Given the description of an element on the screen output the (x, y) to click on. 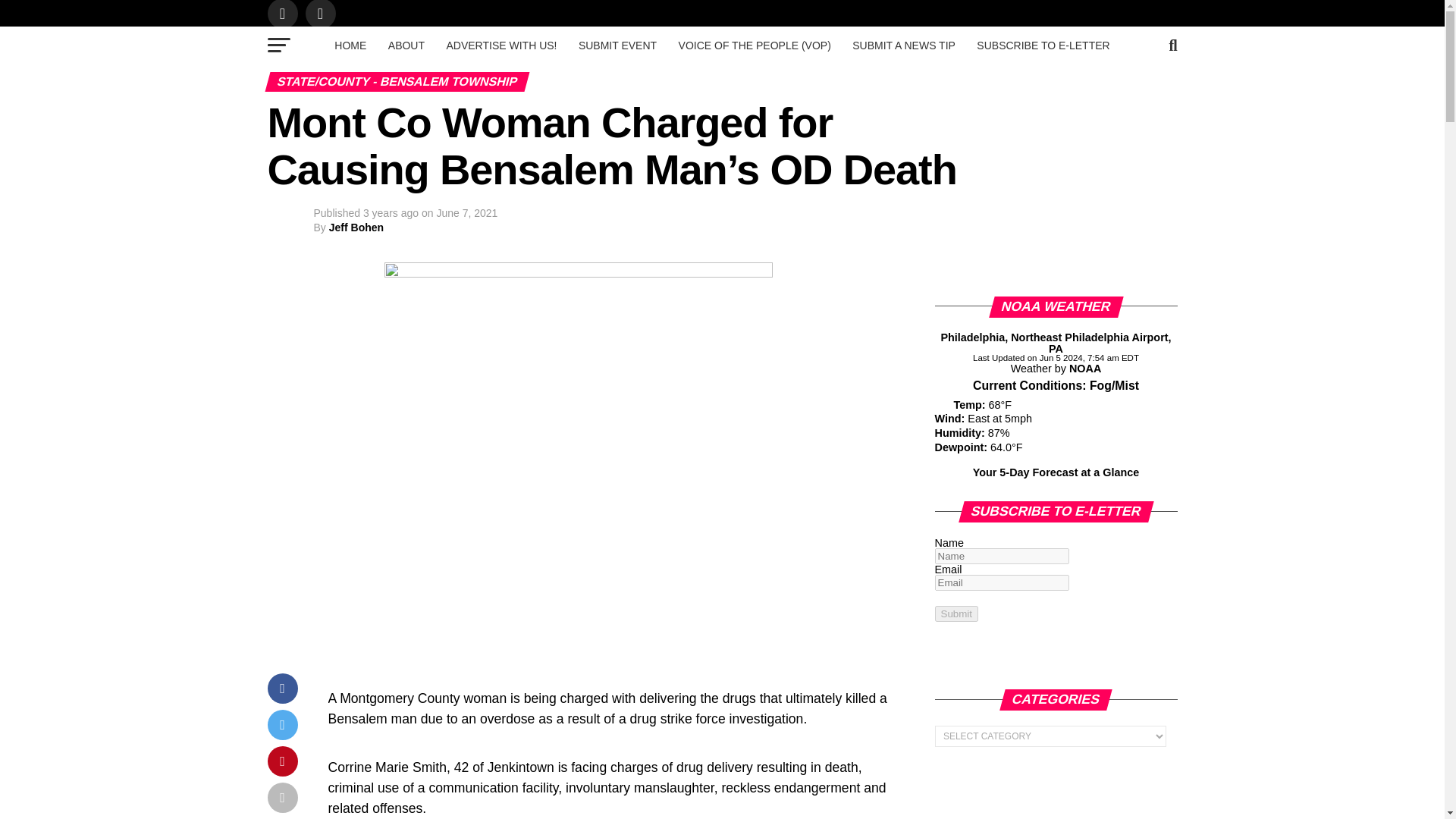
Jeff Bohen (356, 227)
SUBMIT A NEWS TIP (903, 45)
Posts by Jeff Bohen (356, 227)
HOME (349, 45)
ADVERTISE WITH US! (501, 45)
ABOUT (405, 45)
SUBMIT EVENT (617, 45)
SUBSCRIBE TO E-LETTER (1043, 45)
Submit (955, 613)
